Given the description of an element on the screen output the (x, y) to click on. 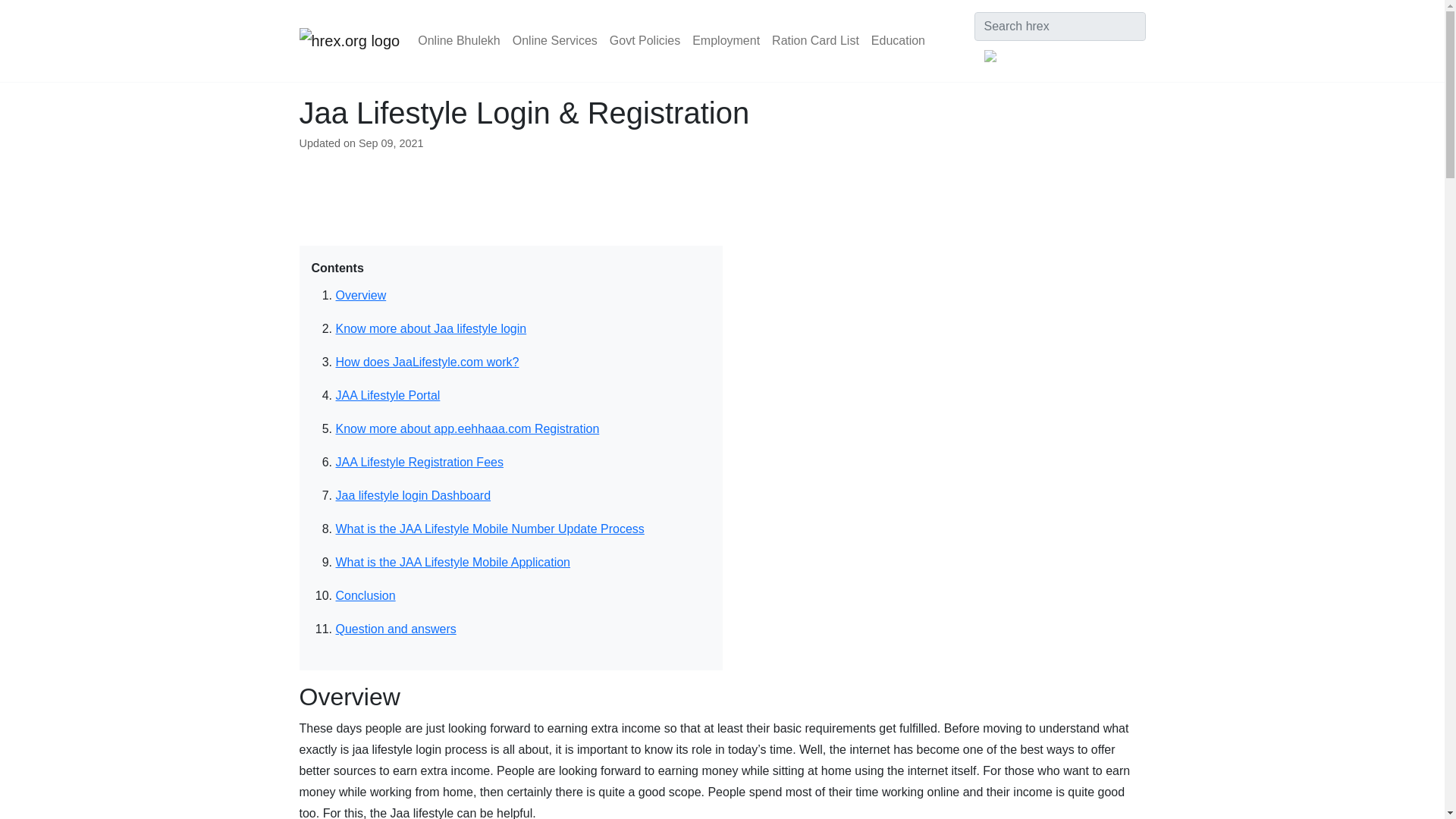
Know more about Jaa lifestyle login (429, 328)
How does JaaLifestyle.com work? (426, 361)
Govt Policies (644, 40)
JAA Lifestyle Registration Fees (418, 461)
Online Bhulekh (459, 40)
What is the JAA Lifestyle Mobile Application (452, 562)
Question and answers (394, 628)
What is the JAA Lifestyle Mobile Number Update Process (488, 528)
Conclusion (364, 594)
Know more about app.eehhaaa.com Registration (466, 428)
